Given the description of an element on the screen output the (x, y) to click on. 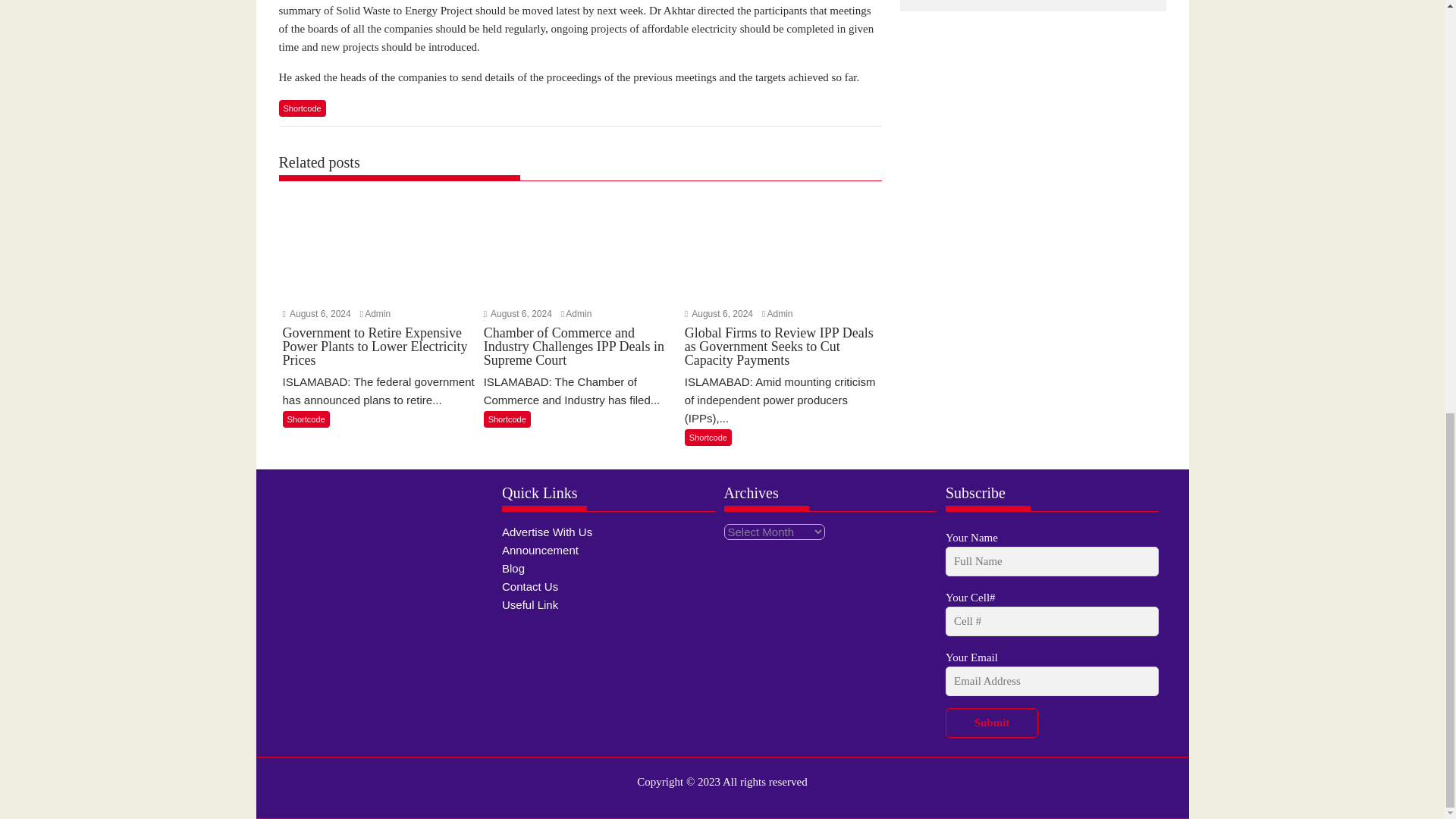
Admin (578, 313)
Admin (377, 313)
Admin (779, 313)
Submit (991, 722)
